Given the description of an element on the screen output the (x, y) to click on. 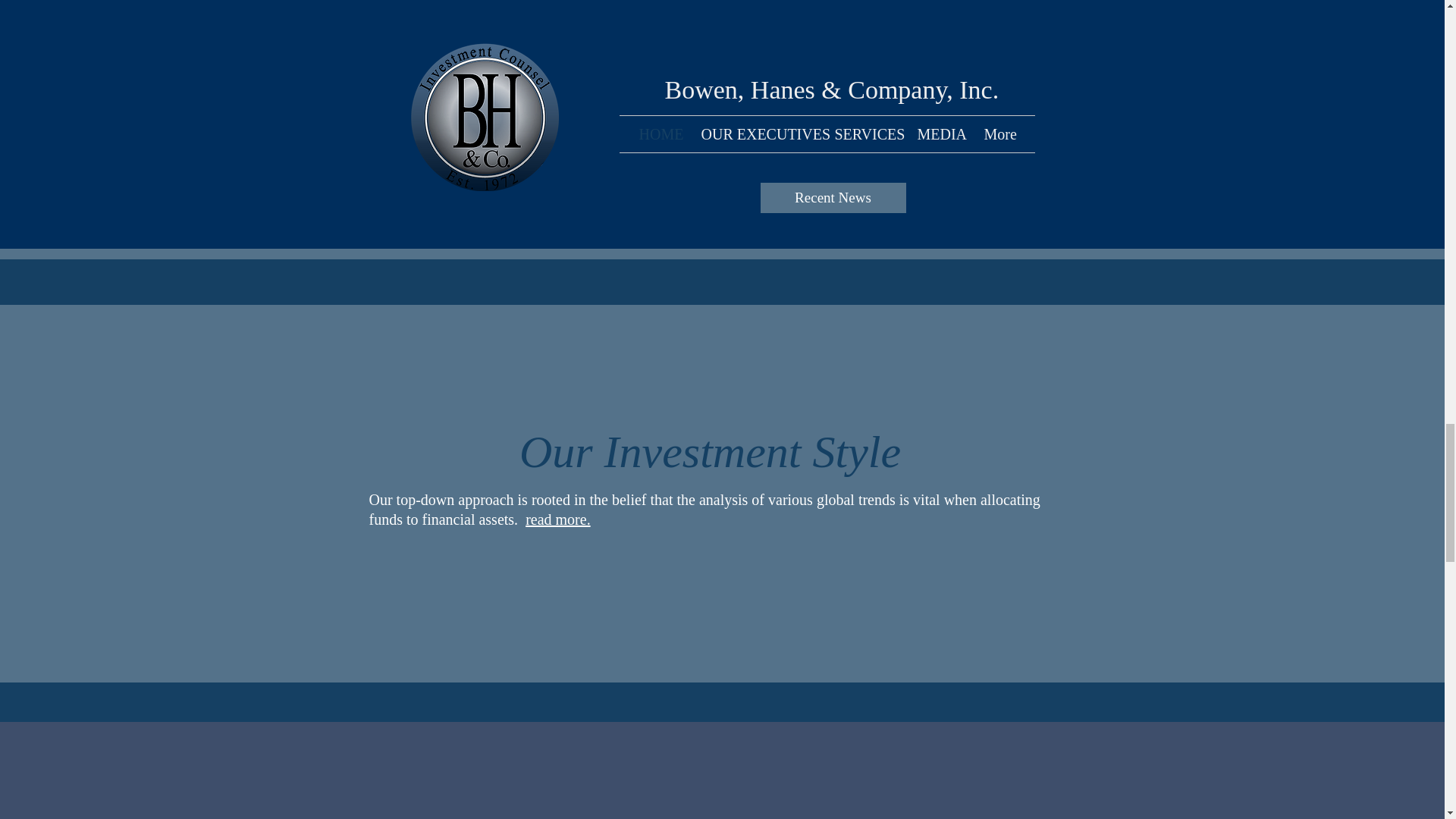
read more. (558, 519)
